Given the description of an element on the screen output the (x, y) to click on. 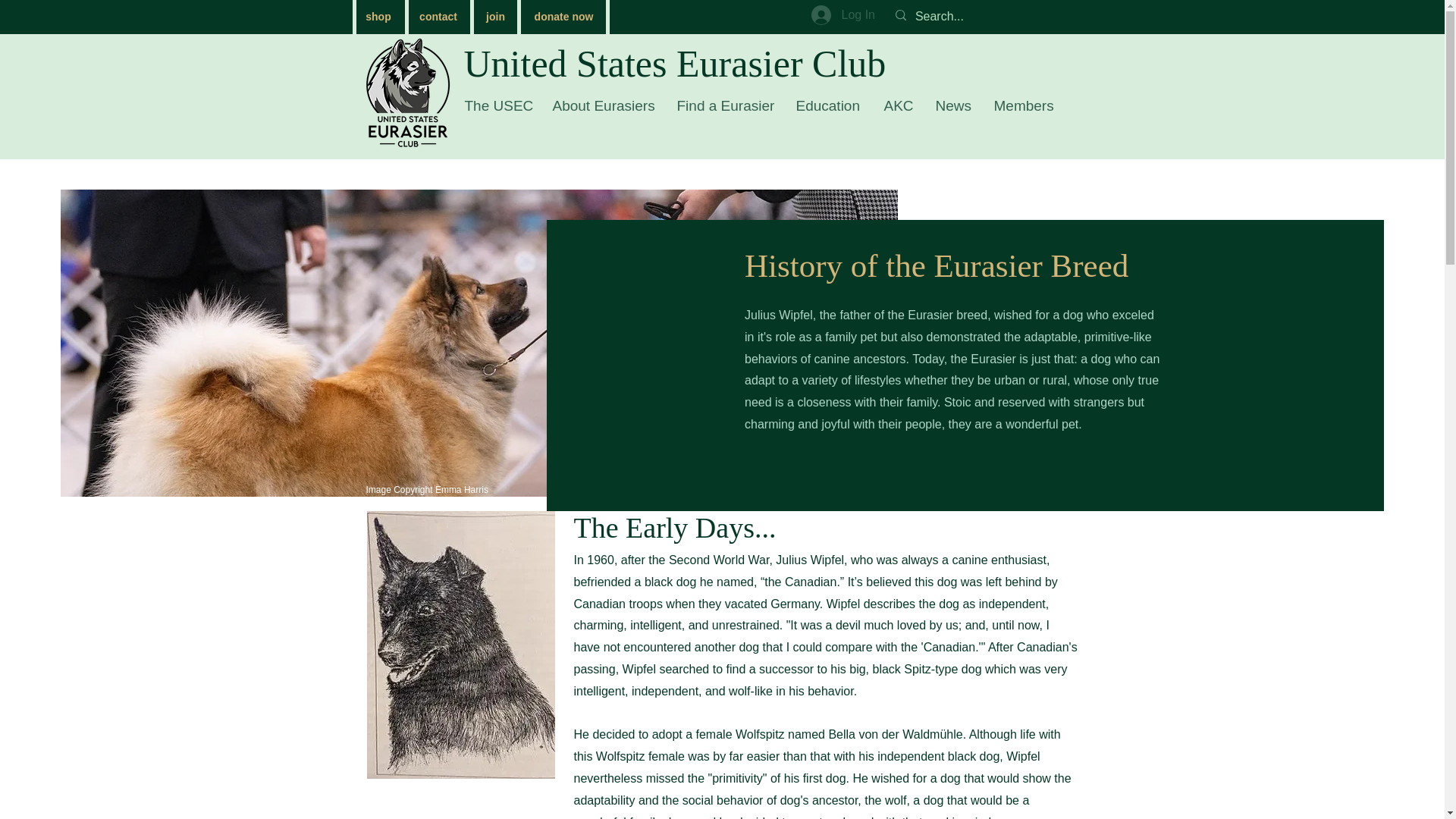
Log In (840, 15)
donate now (564, 17)
contact (437, 17)
shop (378, 17)
News (952, 105)
United States Eurasier Club (675, 63)
